Given the description of an element on the screen output the (x, y) to click on. 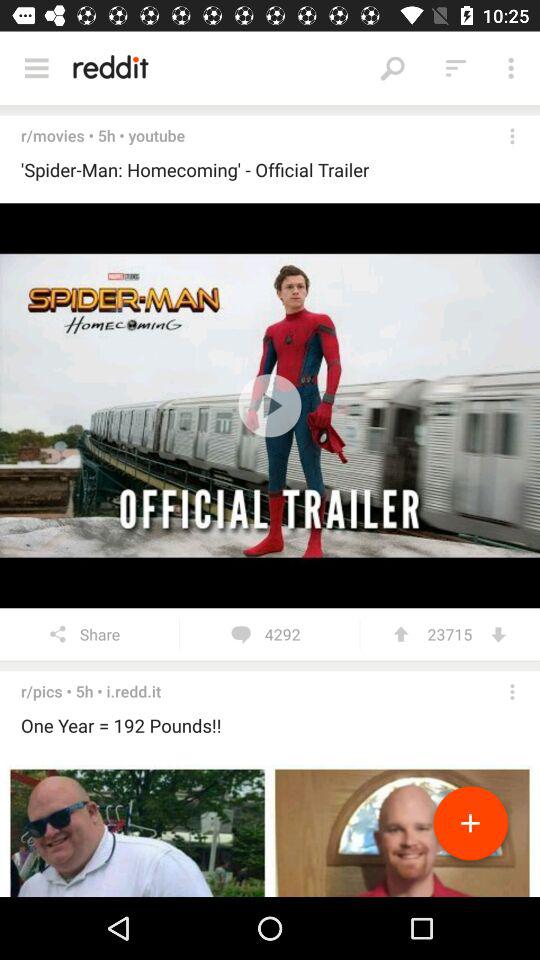
add to playlist (470, 827)
